Given the description of an element on the screen output the (x, y) to click on. 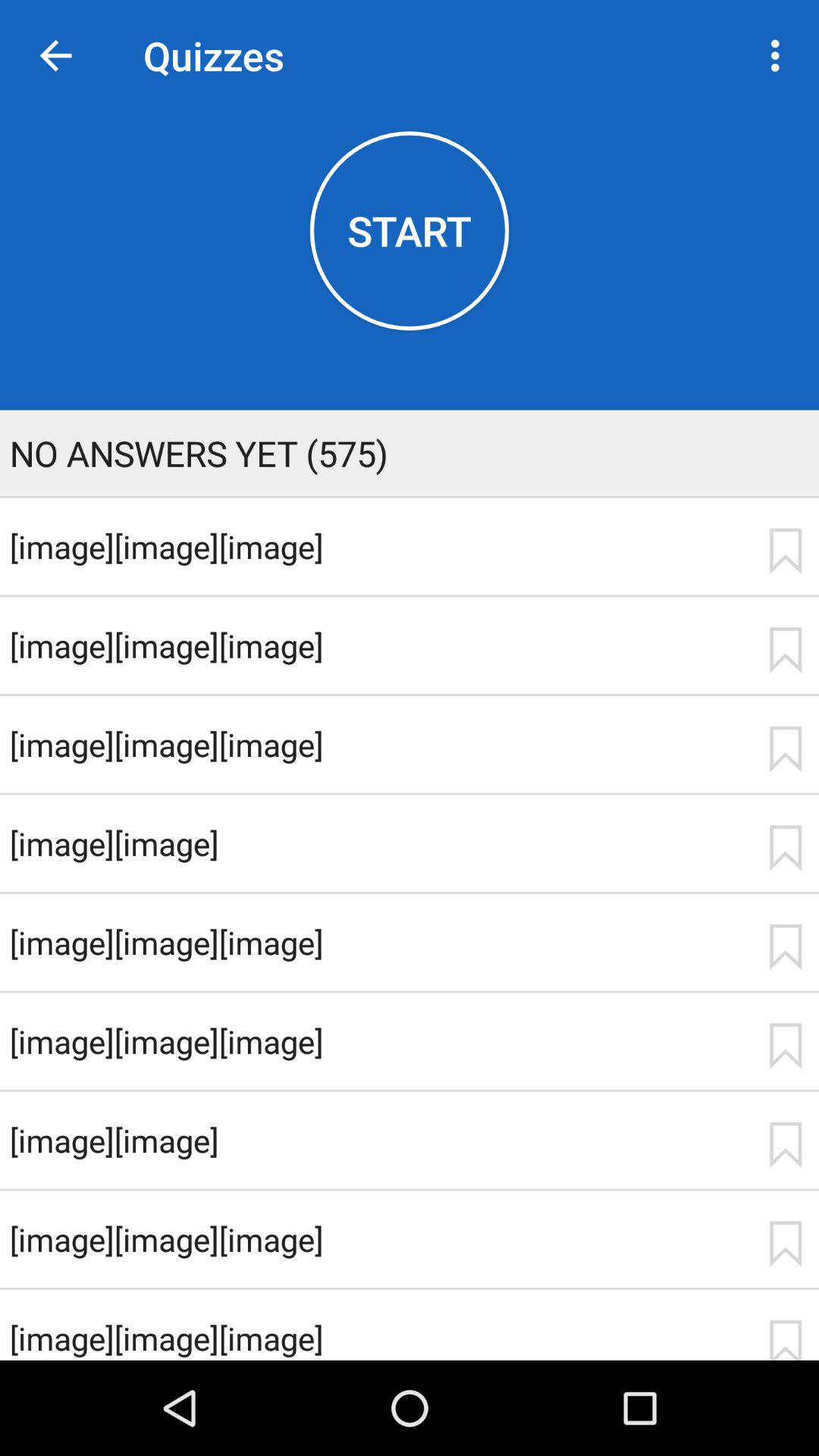
to bookmark (784, 551)
